Given the description of an element on the screen output the (x, y) to click on. 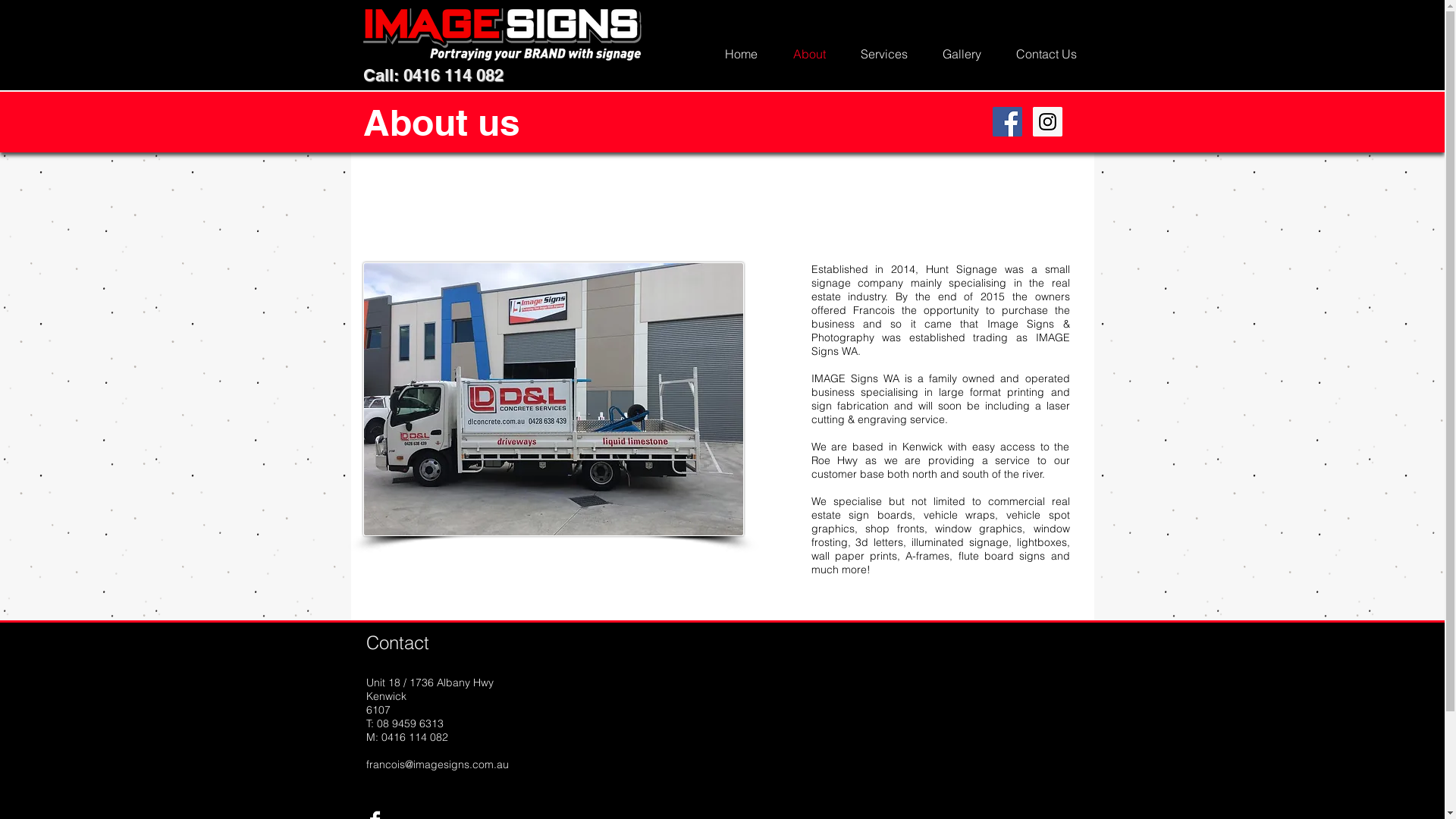
Services Element type: text (884, 53)
About Element type: text (808, 53)
Contact Us Element type: text (1045, 53)
francois@imagesigns.com.au Element type: text (436, 764)
Home Element type: text (740, 53)
Gallery Element type: text (961, 53)
